Given the description of an element on the screen output the (x, y) to click on. 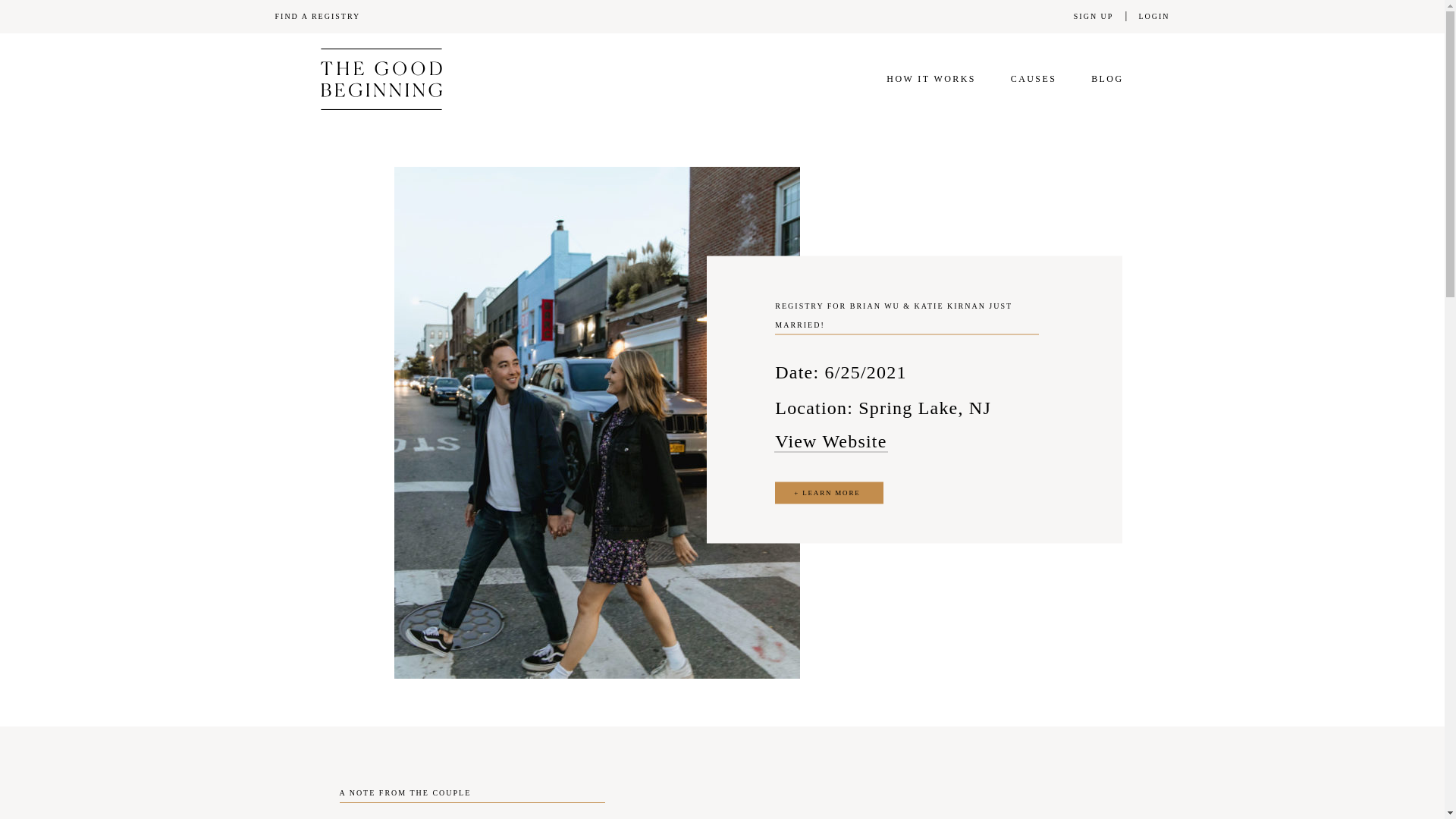
LOGIN (1153, 16)
HOW IT WORKS (930, 79)
CAUSES (1033, 79)
LEARN MORE (828, 493)
BLOG (1107, 79)
FIND A REGISTRY (317, 16)
View Website (830, 441)
SIGN UP (1093, 16)
